Given the description of an element on the screen output the (x, y) to click on. 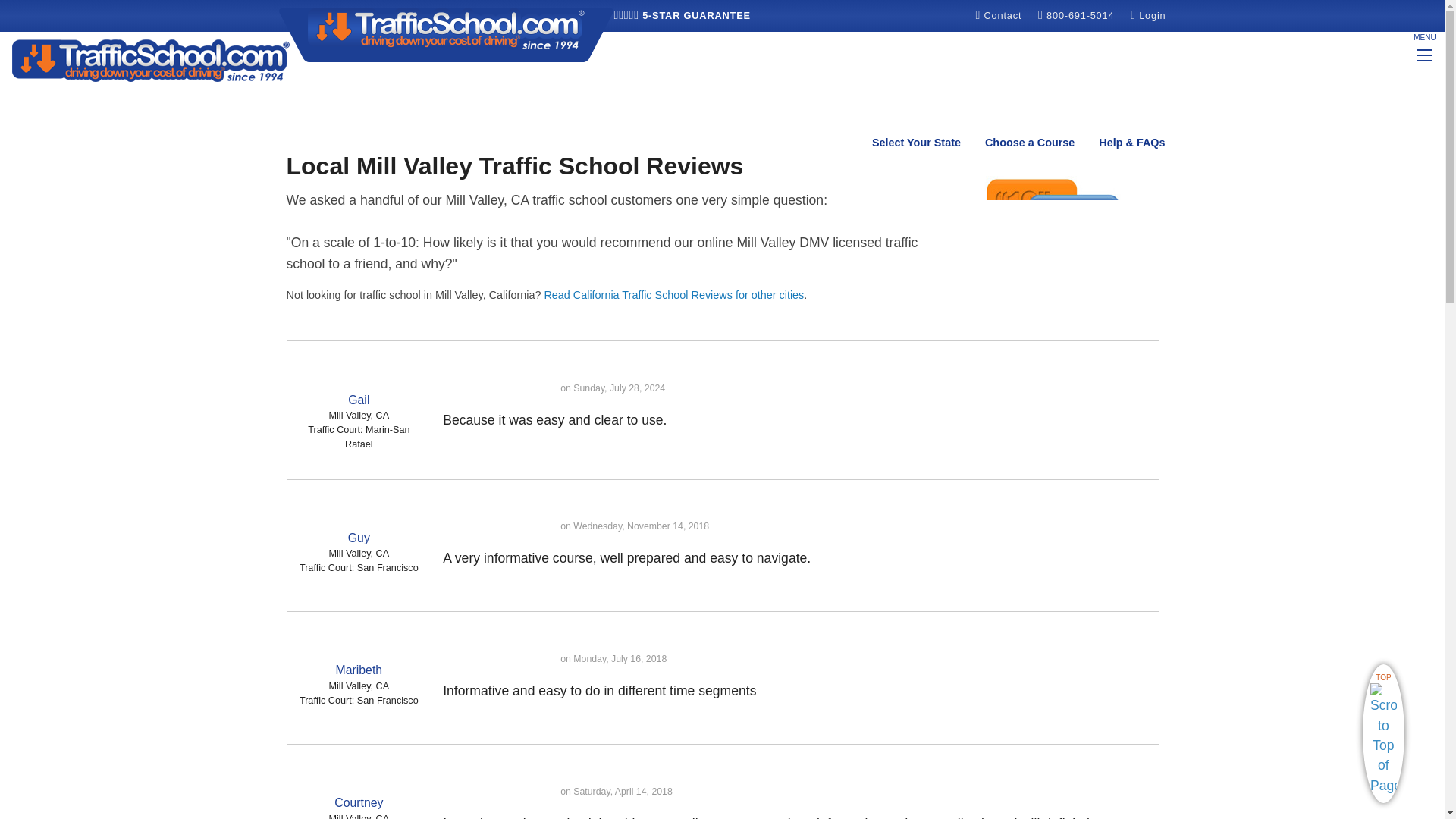
Traffic School Official Site (446, 34)
Contact Traffic School (1000, 15)
Login (1148, 15)
Read California Traffic School Reviews for other cities (673, 295)
TrafficSchool.com 5 Star Guarantee (682, 15)
Contact (1000, 15)
Traffic School Home (150, 58)
Select Your State (916, 142)
Returning Student? Login to Course Here (1148, 15)
800-691-5014 (1078, 15)
